Given the description of an element on the screen output the (x, y) to click on. 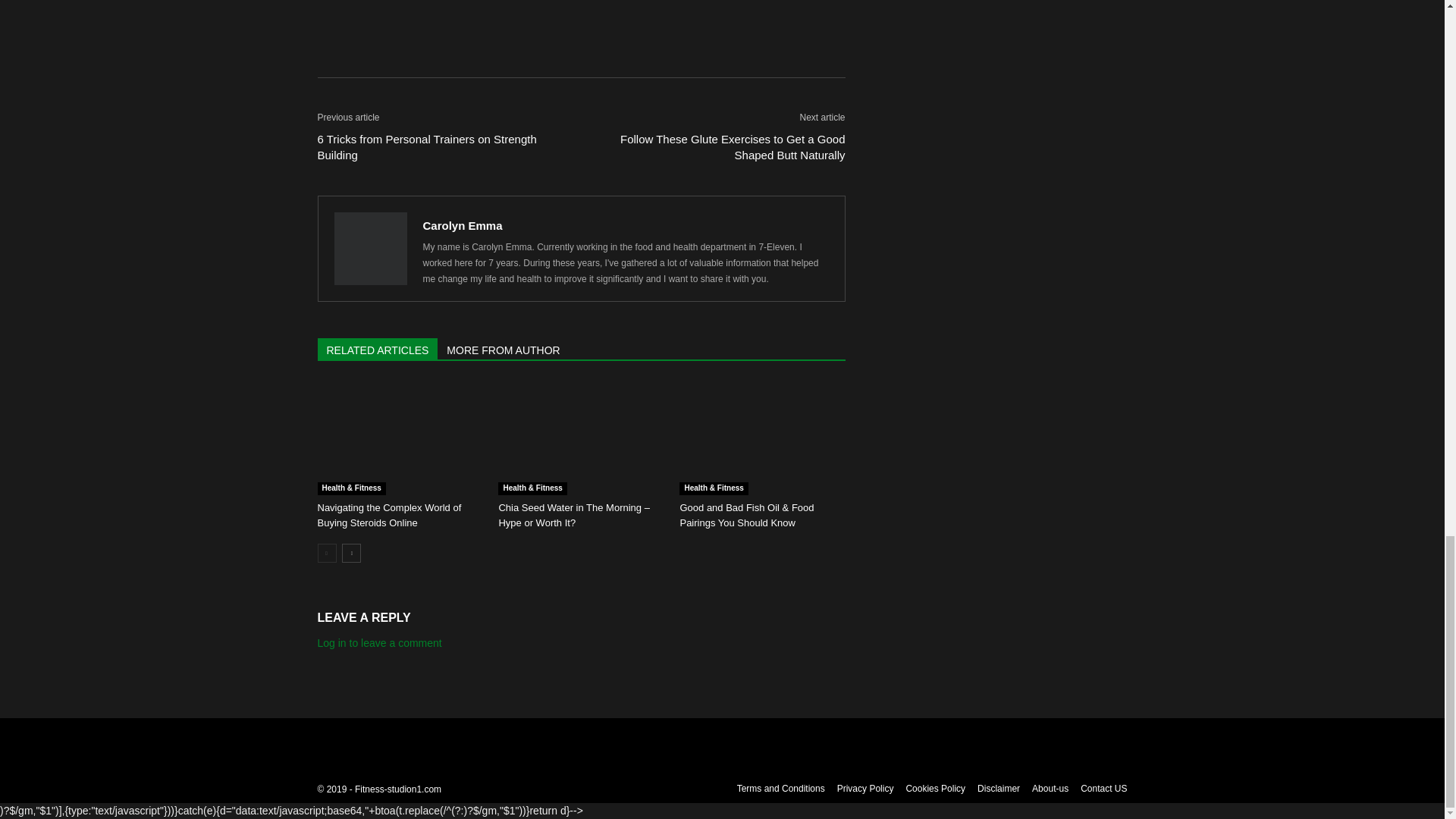
Carolyn Emma (462, 225)
Navigating the Complex World of Buying Steroids Online (389, 515)
6 Tricks from Personal Trainers on Strength Building (439, 146)
RELATED ARTICLES (377, 348)
MORE FROM AUTHOR (503, 348)
bottomFacebookLike (430, 12)
Navigating the Complex World of Buying Steroids Online (399, 438)
